Given the description of an element on the screen output the (x, y) to click on. 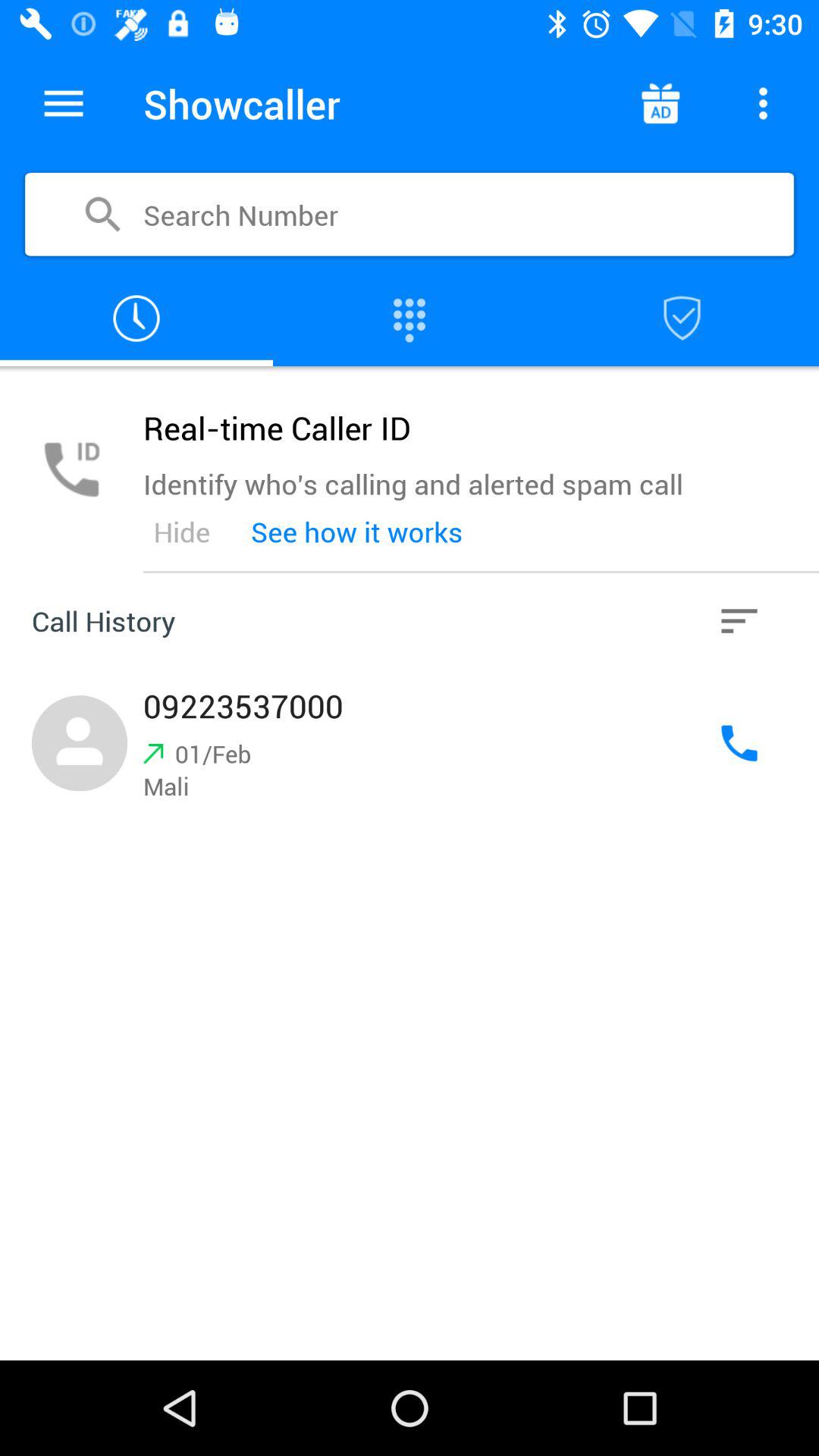
open advertisement (659, 103)
